Given the description of an element on the screen output the (x, y) to click on. 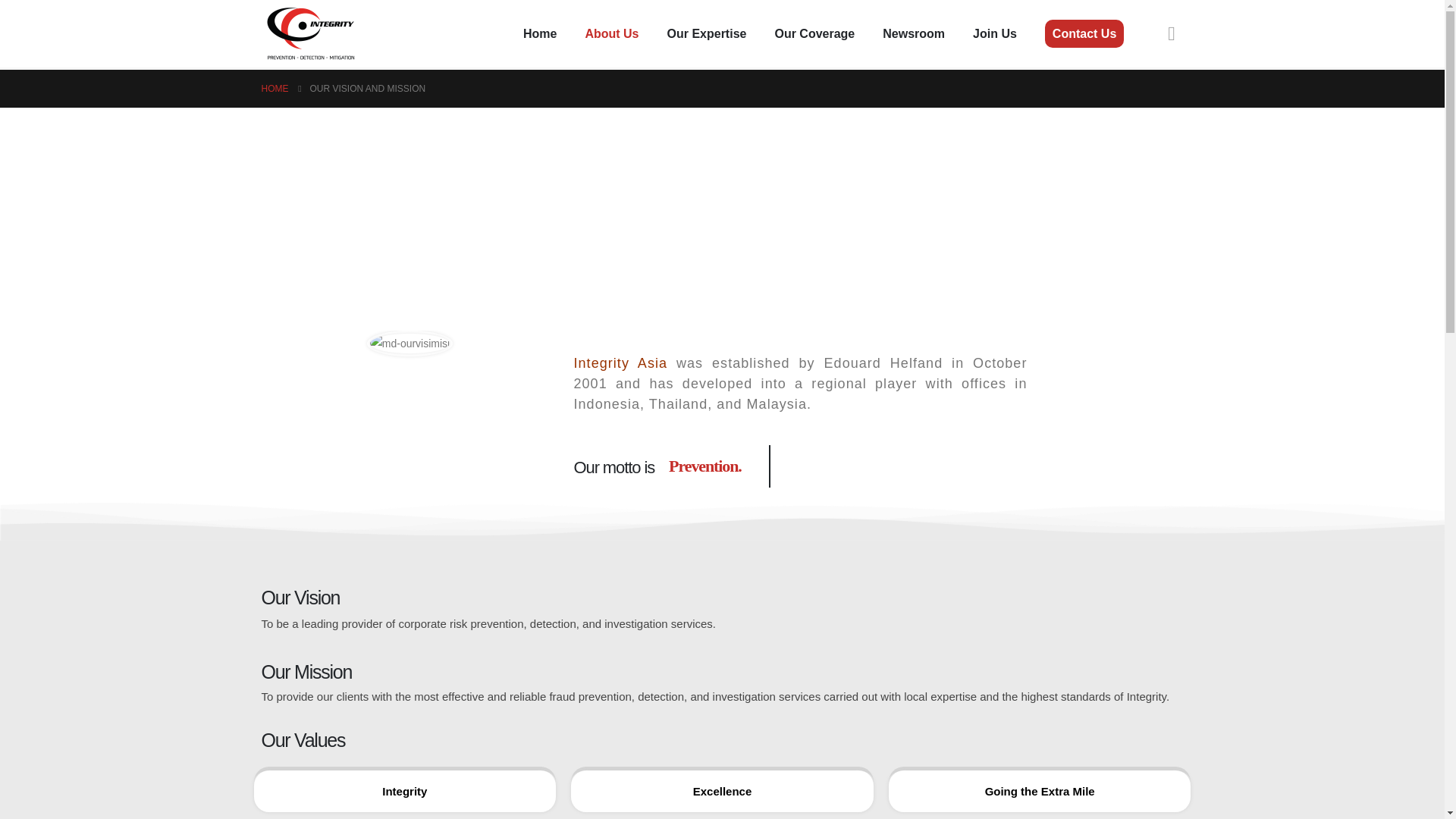
Go to Home Page (274, 88)
Contact Us (1083, 33)
Our Coverage (813, 33)
About Us (611, 33)
Newsroom (913, 33)
Home (539, 33)
Our Expertise (706, 33)
md-ourvisimisi (409, 342)
Join Us (994, 33)
